Given the description of an element on the screen output the (x, y) to click on. 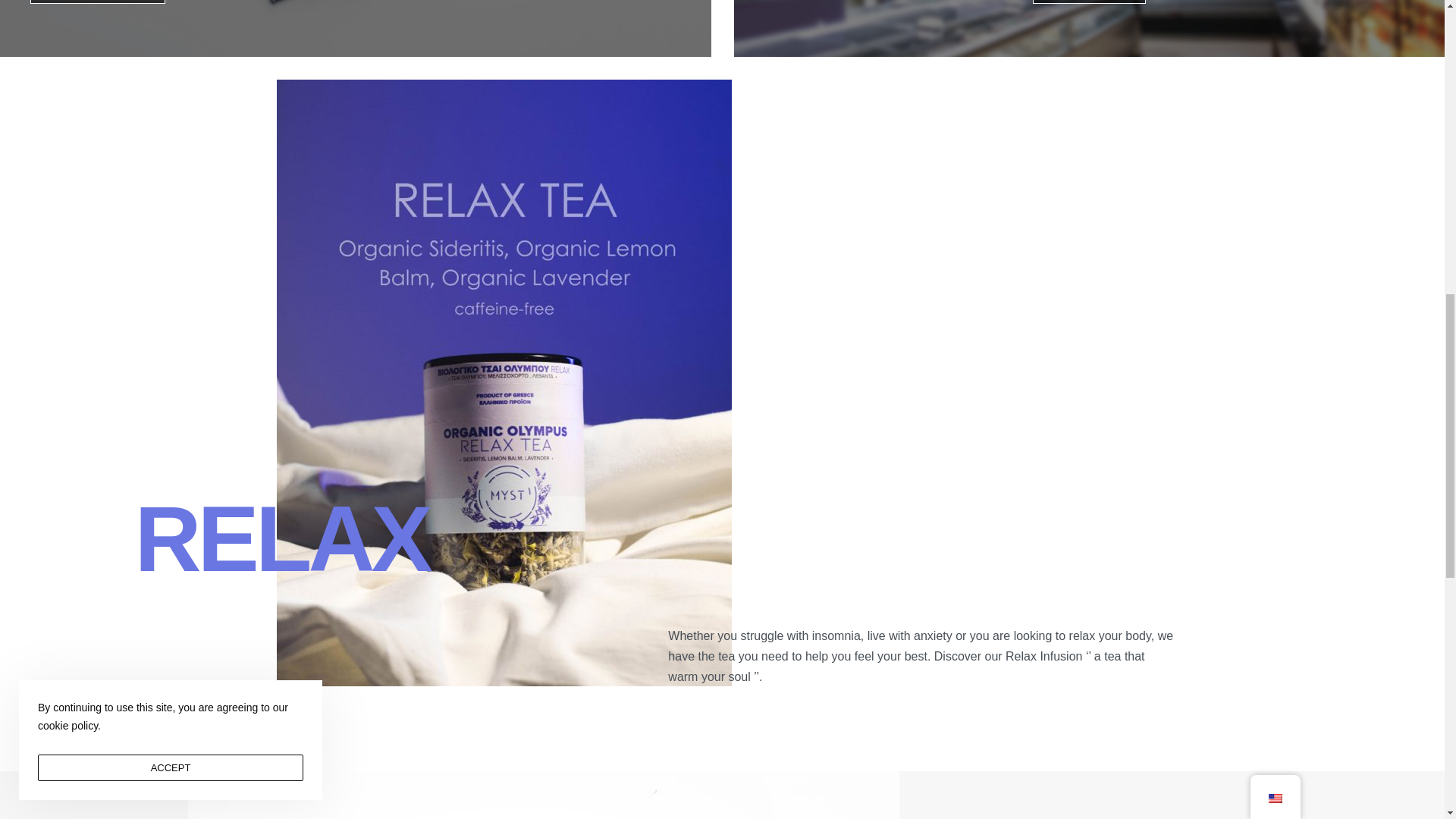
Read Catalogue (97, 2)
Contact us (1088, 2)
